Given the description of an element on the screen output the (x, y) to click on. 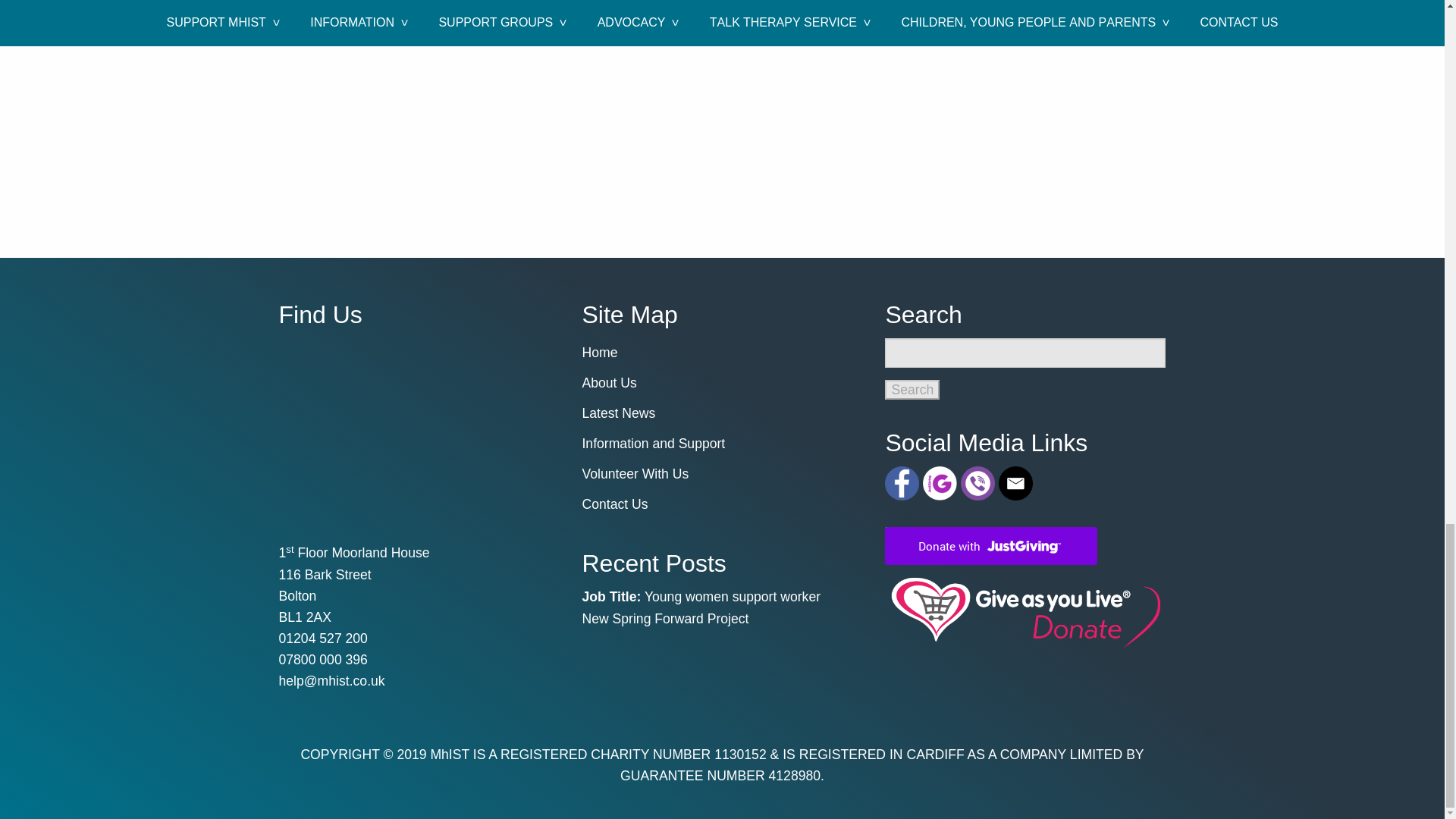
Call MhIST (979, 483)
MhIST Just Giving (941, 483)
Search (912, 389)
Call MhIST (323, 638)
Email MhIST (1017, 483)
email MhIST (332, 680)
MhIST Facebook (904, 483)
